Given the description of an element on the screen output the (x, y) to click on. 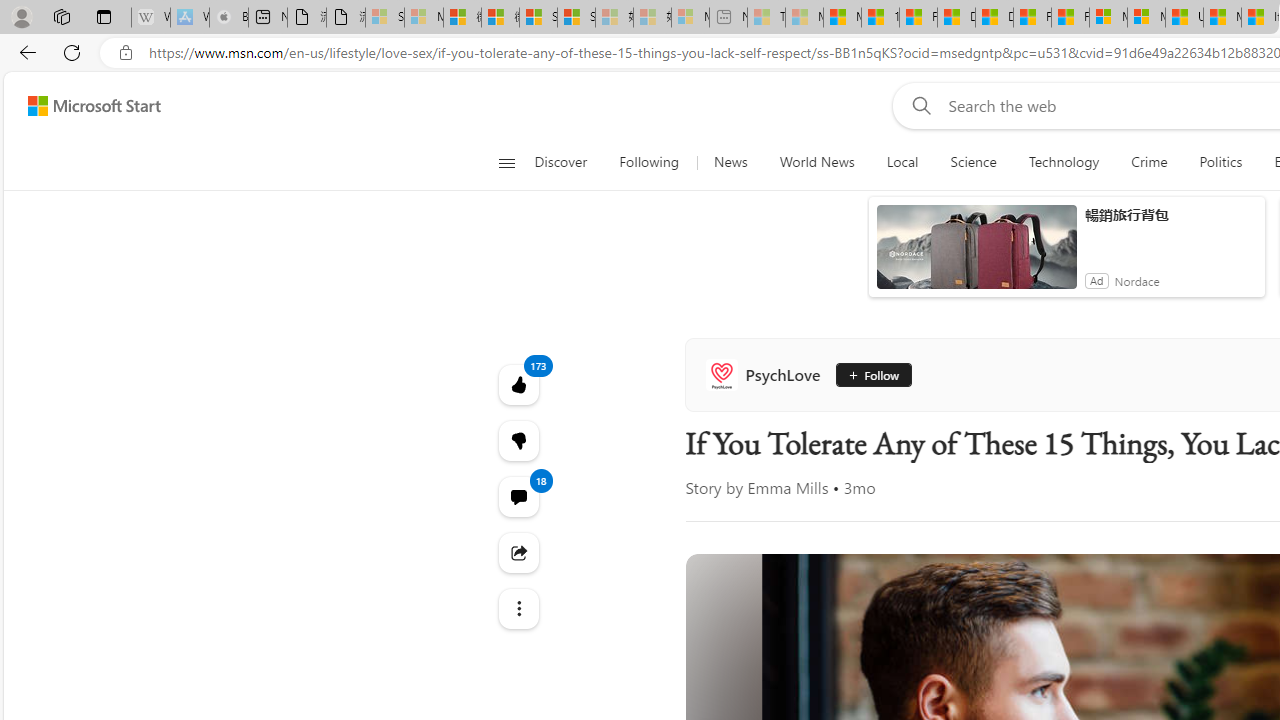
173 Like (517, 384)
Marine life - MSN - Sleeping (804, 17)
Food and Drink - MSN (917, 17)
